Given the description of an element on the screen output the (x, y) to click on. 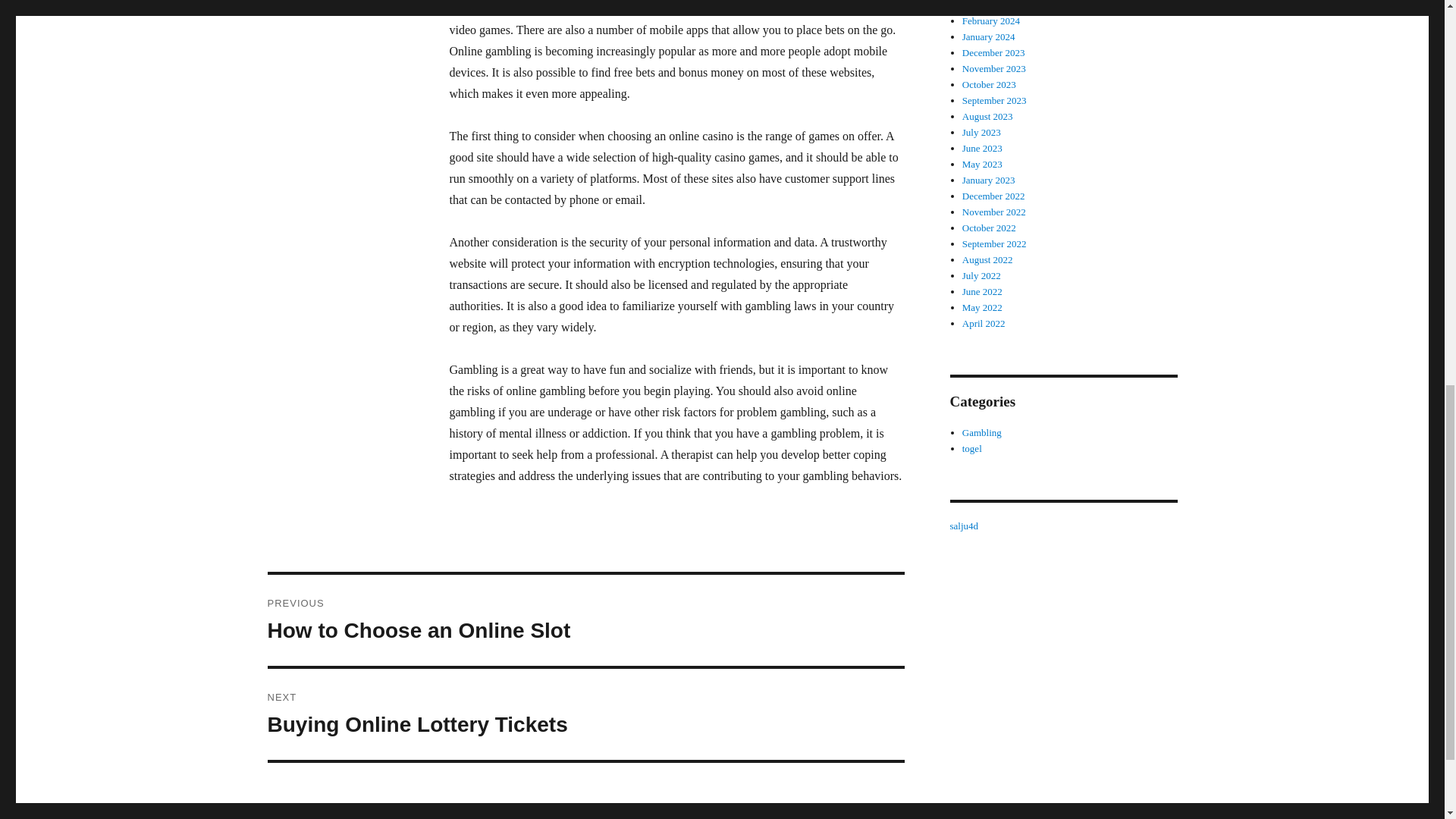
January 2023 (988, 179)
August 2023 (987, 116)
September 2023 (994, 100)
October 2023 (585, 714)
January 2024 (989, 84)
May 2023 (988, 36)
December 2023 (982, 163)
June 2022 (993, 52)
November 2023 (982, 291)
June 2023 (994, 68)
March 2024 (982, 147)
December 2022 (986, 5)
July 2022 (993, 195)
July 2023 (981, 275)
